Given the description of an element on the screen output the (x, y) to click on. 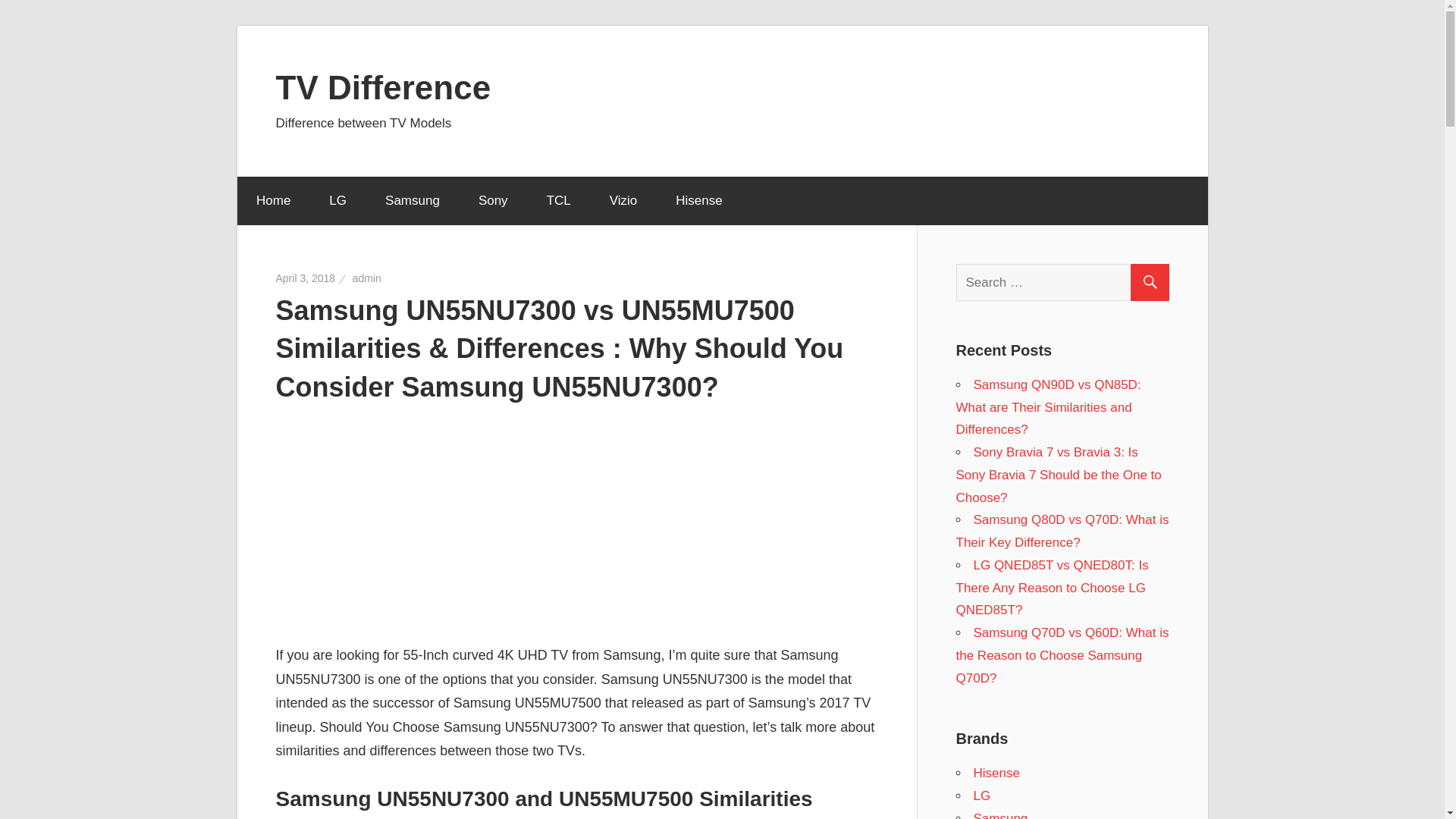
admin (366, 277)
Advertisement (576, 523)
Hisense (698, 200)
1:39 am (306, 277)
LG (338, 200)
Samsung (1000, 815)
Search for: (1068, 282)
